Given the description of an element on the screen output the (x, y) to click on. 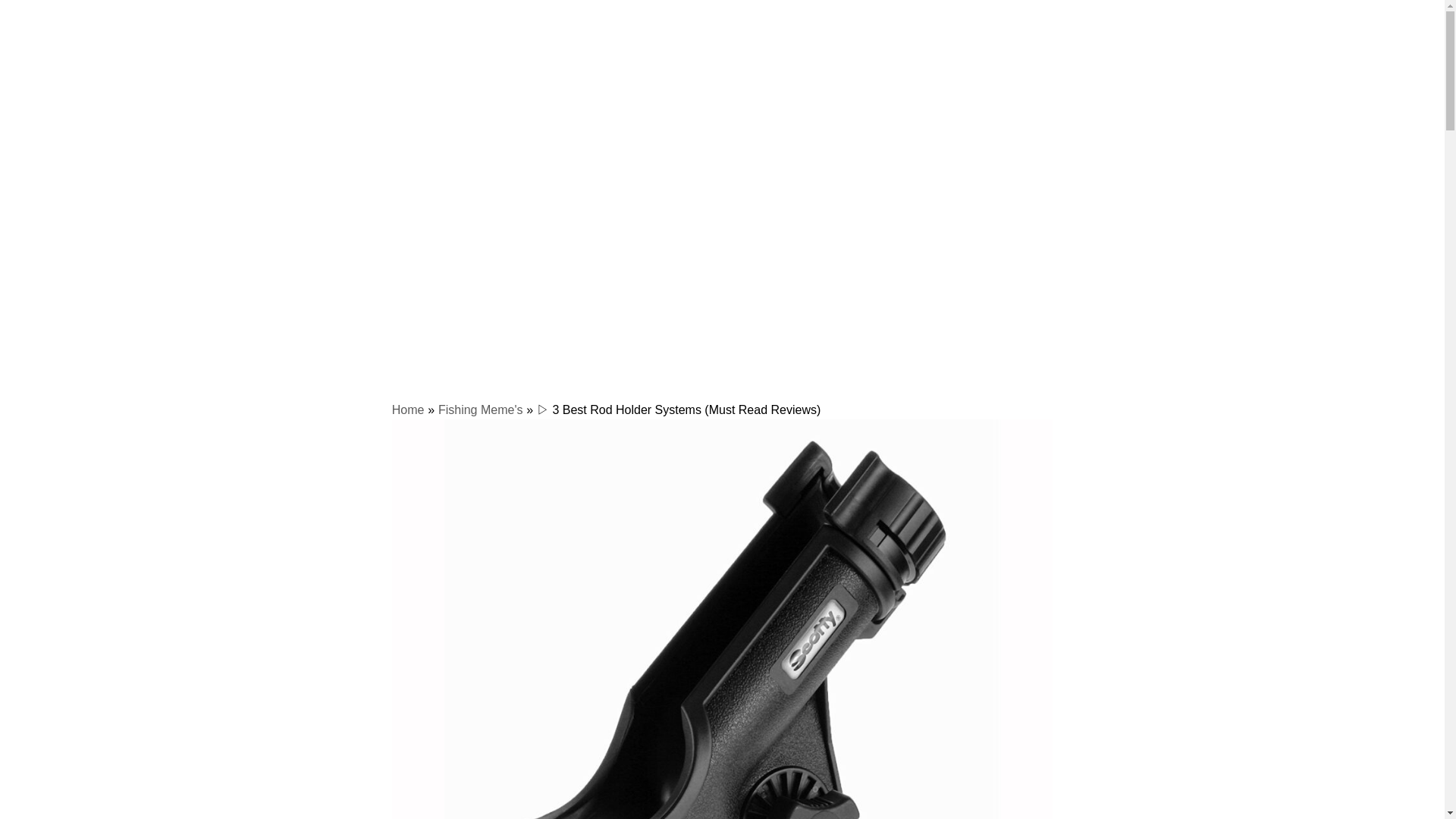
Home (408, 409)
Fishing Meme's (480, 409)
